Given the description of an element on the screen output the (x, y) to click on. 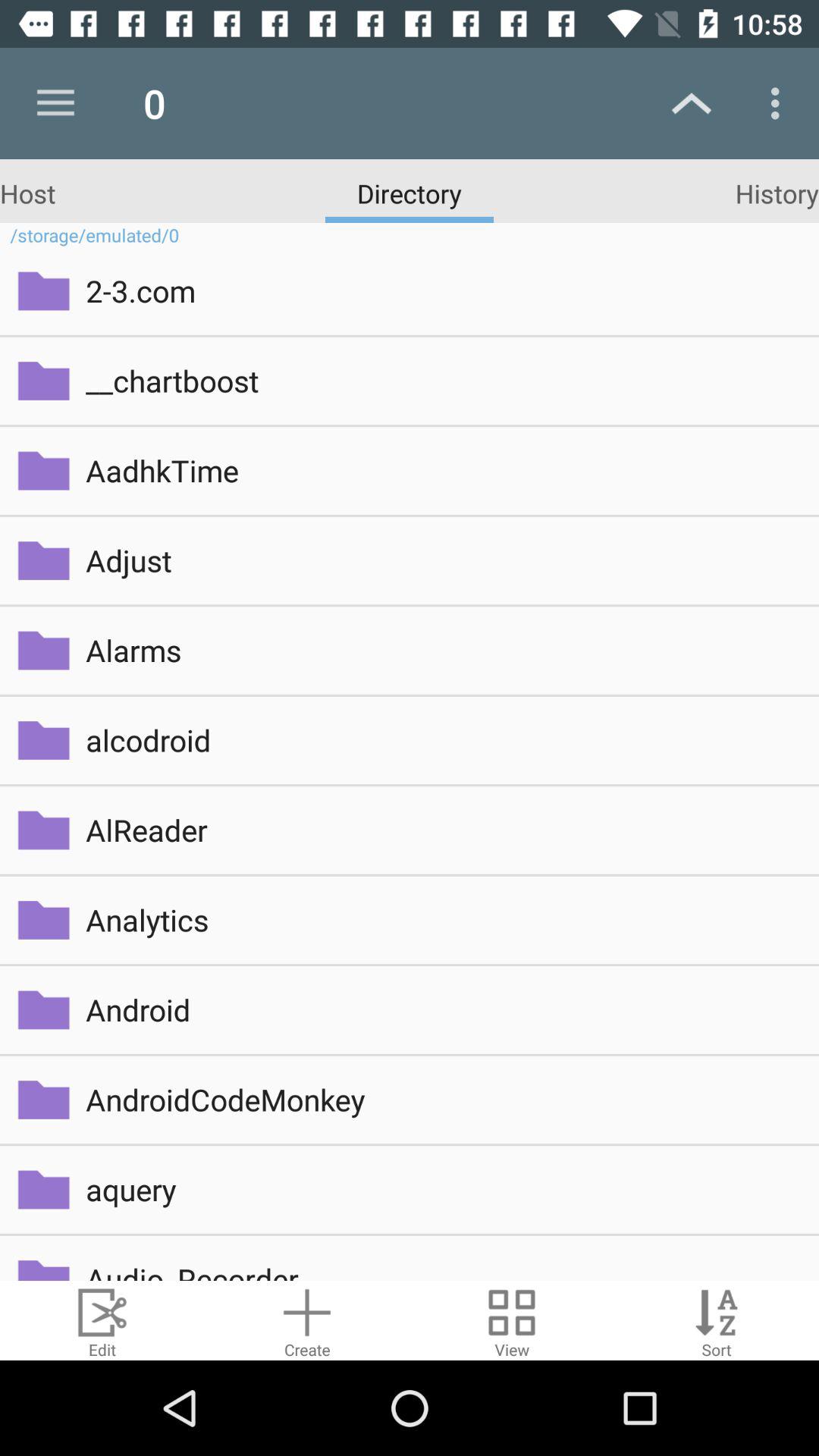
select android (441, 1009)
